Given the description of an element on the screen output the (x, y) to click on. 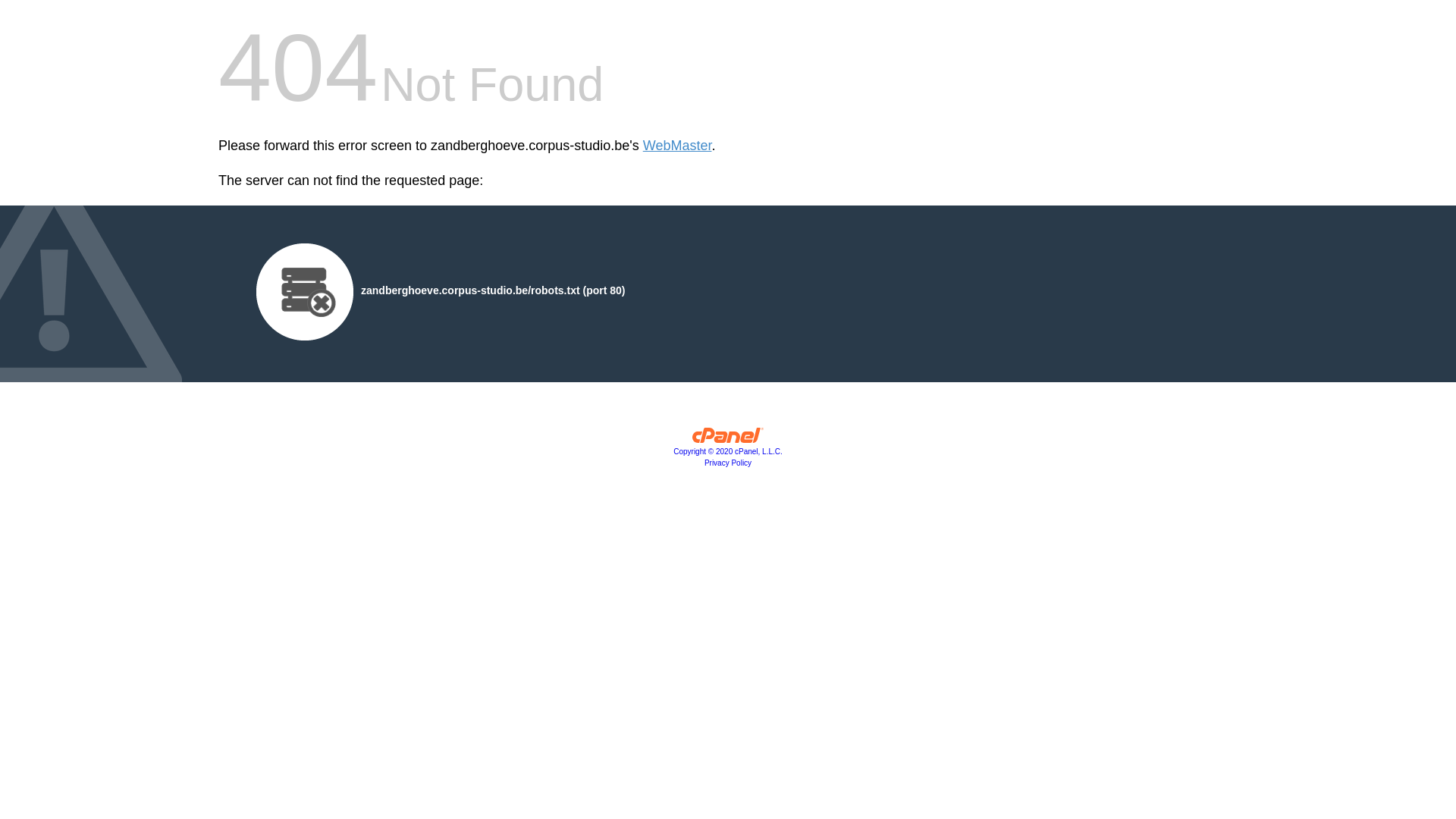
WebMaster Element type: text (677, 145)
Privacy Policy Element type: text (727, 462)
cPanel, Inc. Element type: hover (728, 439)
